Given the description of an element on the screen output the (x, y) to click on. 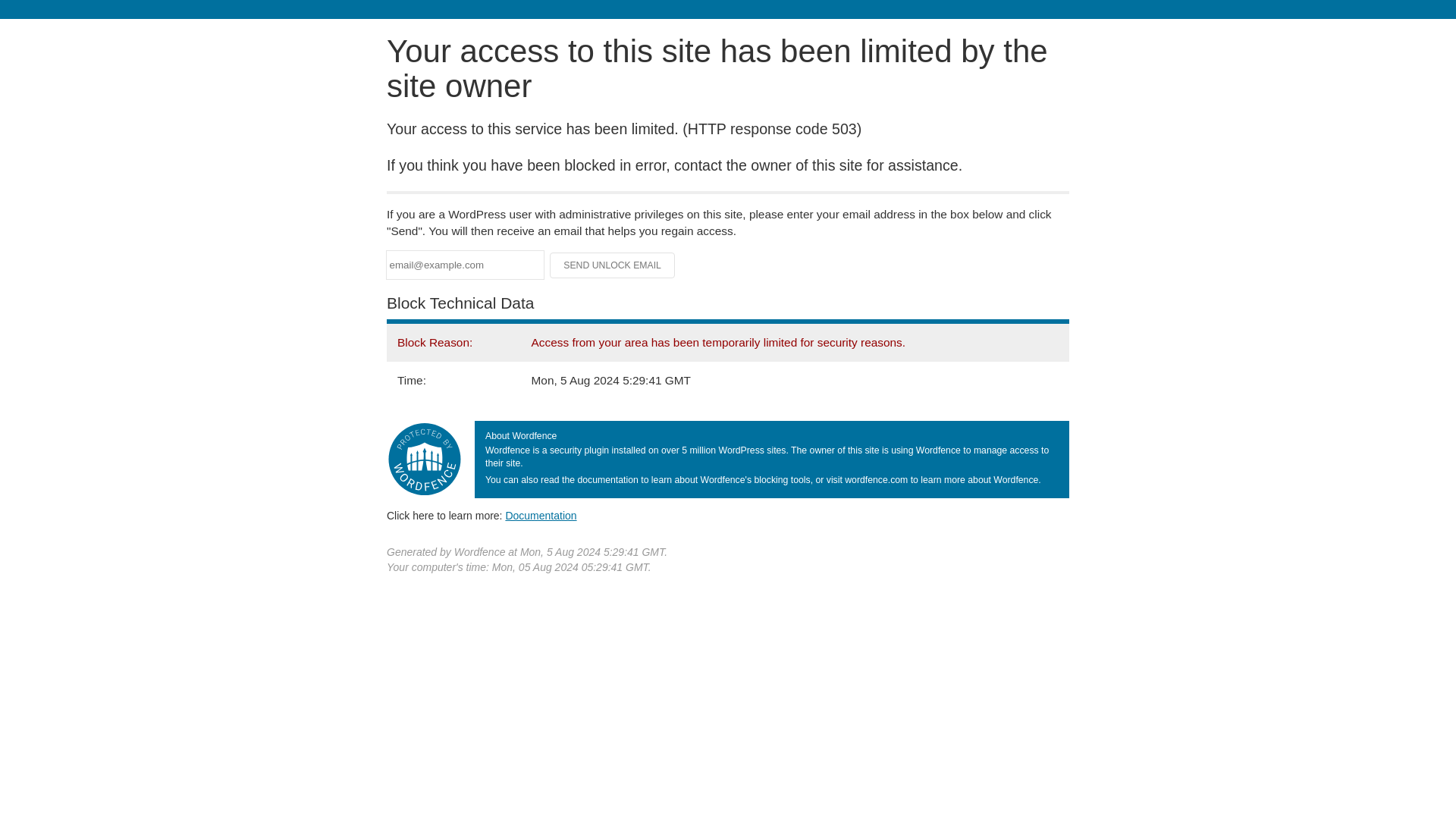
Send Unlock Email (612, 265)
Send Unlock Email (612, 265)
Documentation (540, 515)
